Given the description of an element on the screen output the (x, y) to click on. 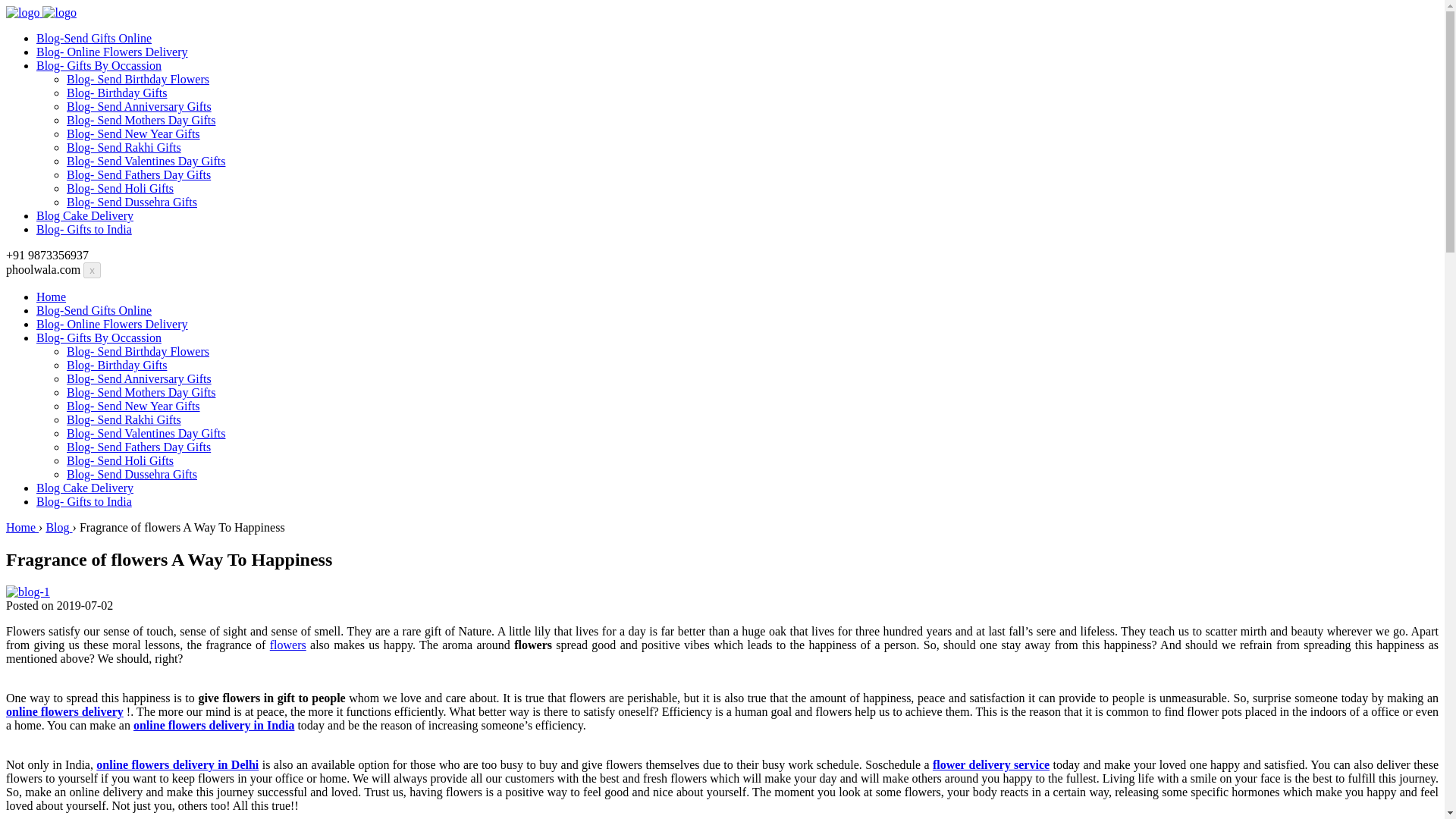
Blog- Send Mothers Day Gifts (140, 119)
online flowers delivery in delhi (177, 764)
Blog- Gifts to India (84, 501)
Blog- Gifts By Occassion (98, 337)
Blog- Send New Year Gifts (133, 405)
Blog- Online Flowers Delivery (111, 323)
online flowers delivery in India (213, 725)
Blog- Send Dussehra Gifts (131, 473)
x (91, 270)
Blog- Send Valentines Day Gifts (145, 160)
Blog (58, 526)
Blog- Send Anniversary Gifts (138, 378)
Blog Cake Delivery (84, 215)
Flowers delivery service (991, 764)
Blog- Send Anniversary Gifts (138, 106)
